Given the description of an element on the screen output the (x, y) to click on. 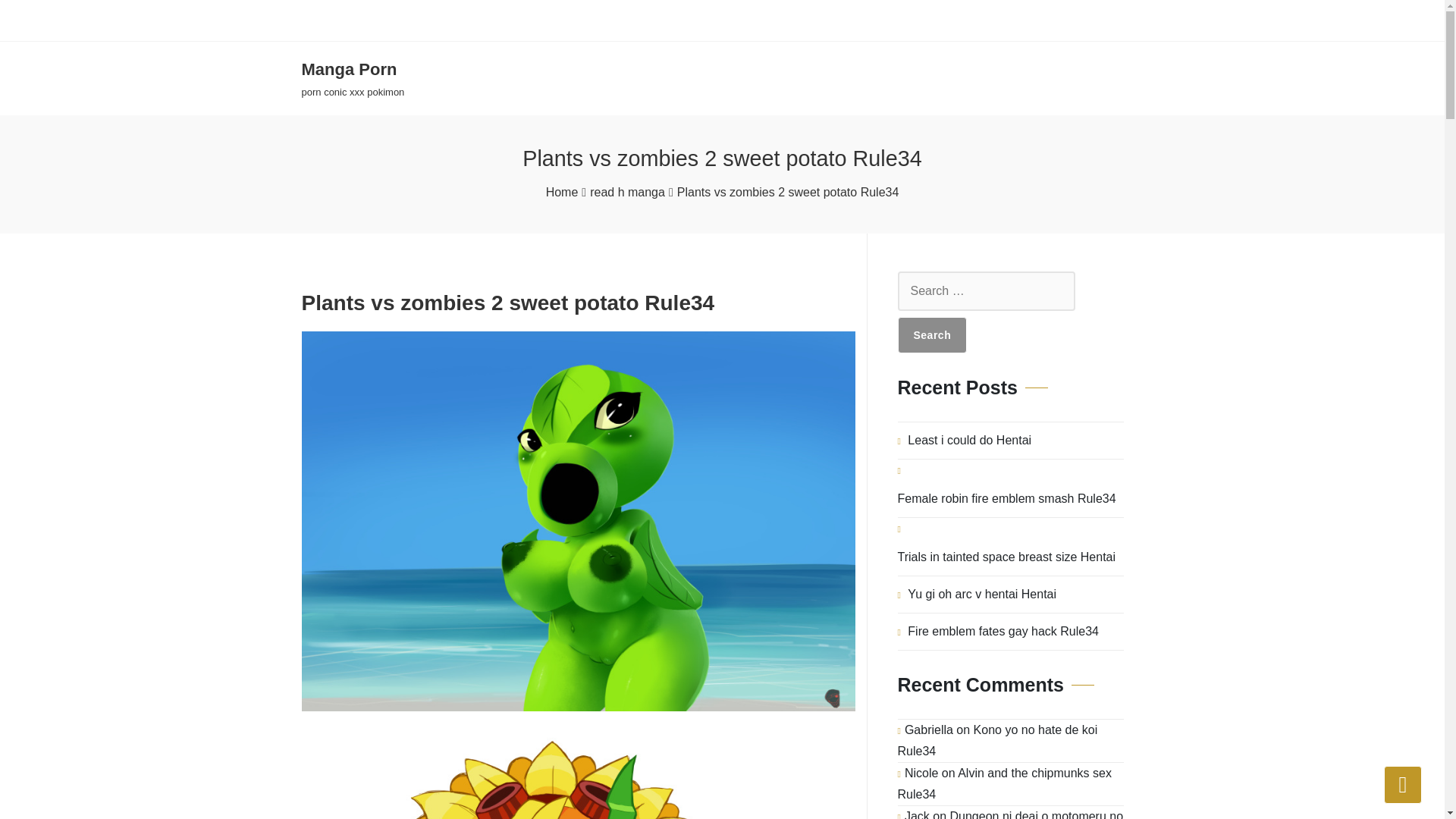
read h manga (627, 192)
Kono yo no hate de koi Rule34 (997, 740)
Yu gi oh arc v hentai Hentai (982, 594)
Alvin and the chipmunks sex Rule34 (1005, 783)
Least i could do Hentai (968, 440)
Female robin fire emblem smash Rule34 (1007, 498)
Fire emblem fates gay hack Rule34 (352, 78)
Search (1003, 631)
Home (933, 334)
Trials in tainted space breast size Hentai (562, 192)
Back To Top (1007, 556)
